Given the description of an element on the screen output the (x, y) to click on. 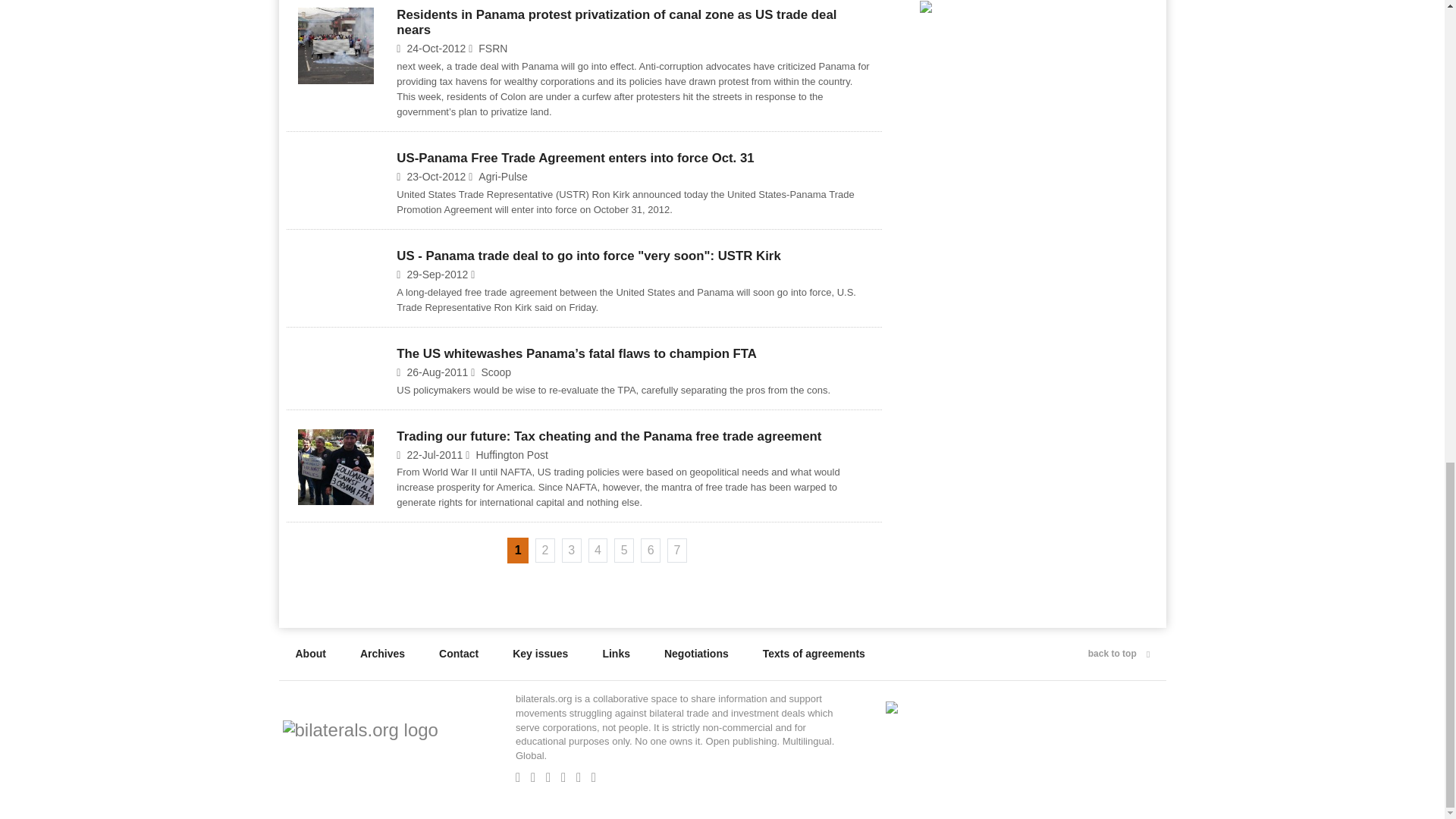
About (310, 653)
Texts of agreements (813, 653)
Negotiations (696, 653)
YouTube (582, 776)
Contact (458, 653)
back to top (1118, 653)
Links (615, 653)
Archives (382, 653)
Key issues (540, 653)
